Given the description of an element on the screen output the (x, y) to click on. 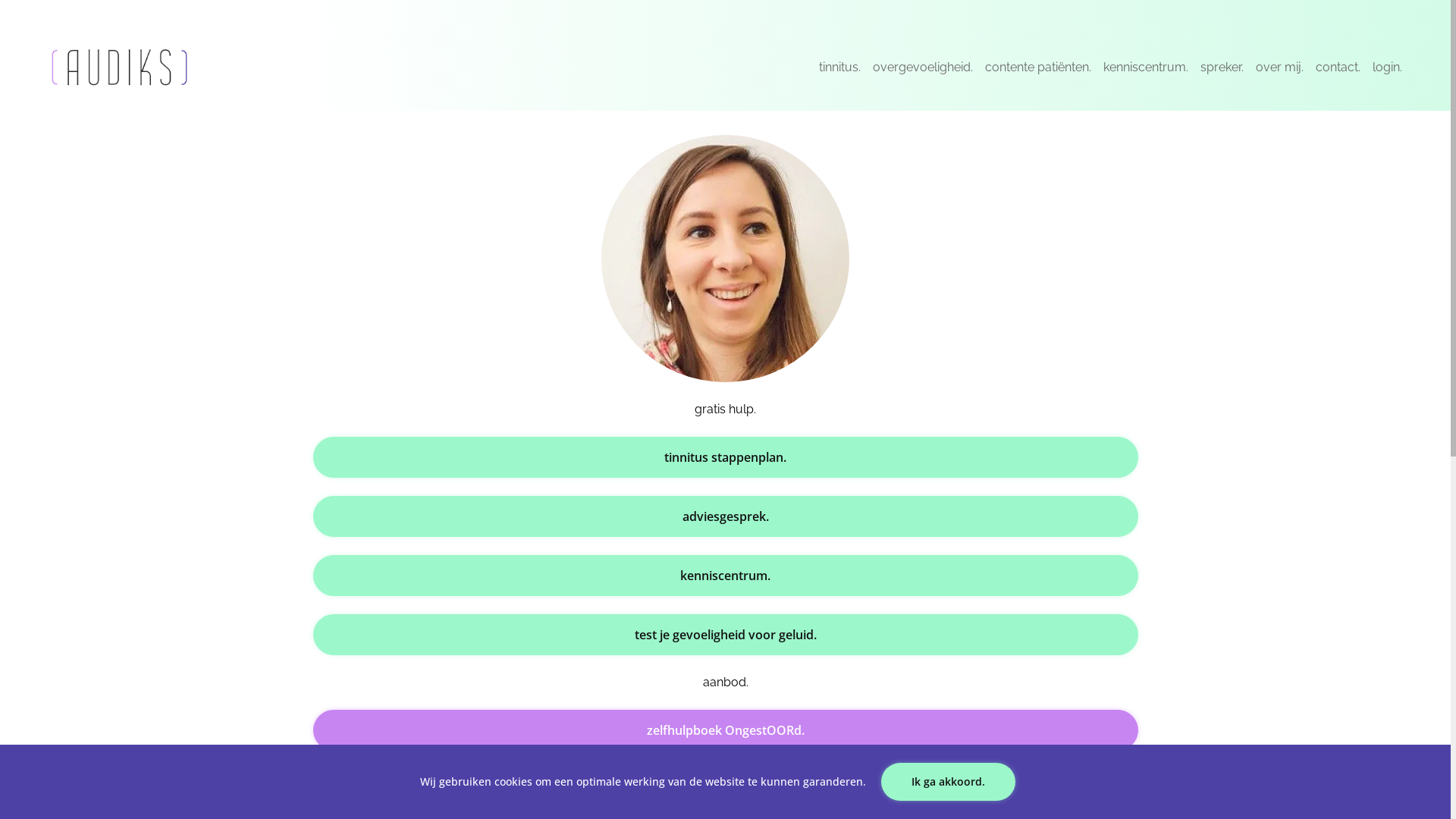
login. Element type: text (1387, 66)
overgevoeligheid. Element type: text (922, 66)
kenniscentrum. Element type: text (1145, 66)
tinnitus. Element type: text (839, 66)
adviesgesprek. Element type: text (725, 516)
kenniscentrum. Element type: text (725, 575)
spreker. Element type: text (1221, 66)
over mij. Element type: text (1279, 66)
zelfhulpboek OngestOORd. Element type: text (724, 729)
test je gevoeligheid voor geluid. Element type: text (724, 634)
contact. Element type: text (1337, 66)
tinnitus. Element type: text (725, 789)
Ik ga akkoord. Element type: text (948, 781)
tinnitus stappenplan. Element type: text (725, 456)
